Given the description of an element on the screen output the (x, y) to click on. 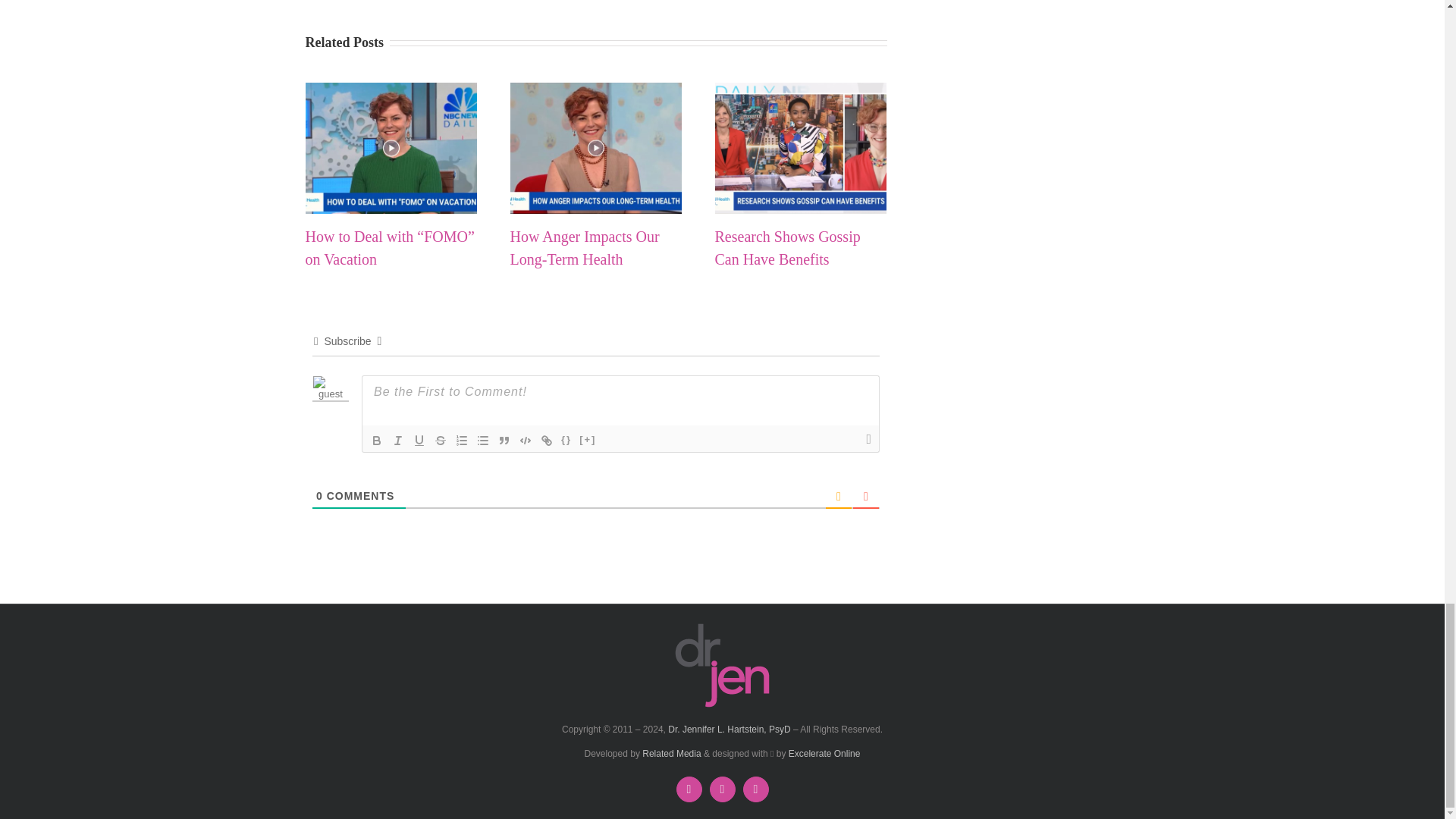
Strike (440, 440)
Bold (376, 440)
Blockquote (504, 440)
Ordered List (461, 440)
Unordered List (482, 440)
Italic (398, 440)
Underline (419, 440)
